Given the description of an element on the screen output the (x, y) to click on. 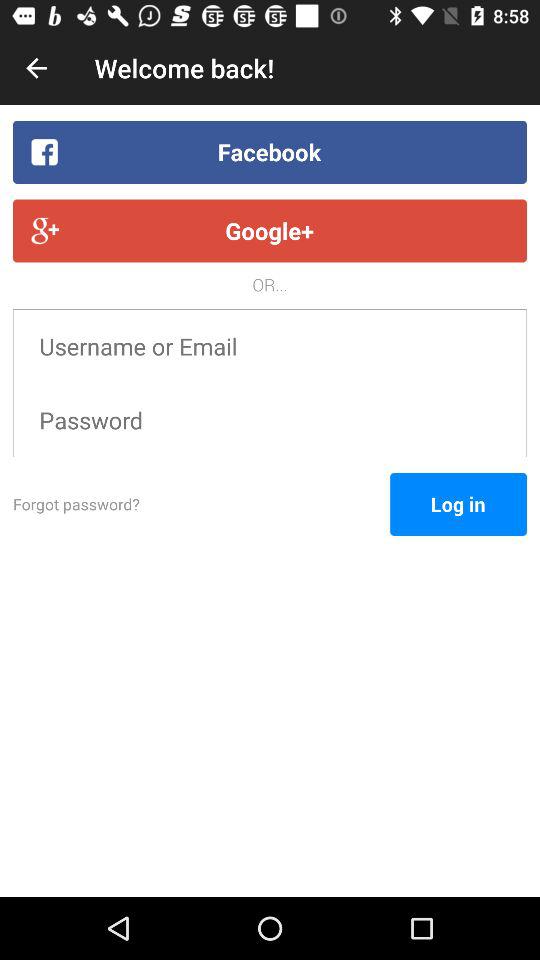
choose item below the or... item (269, 346)
